Given the description of an element on the screen output the (x, y) to click on. 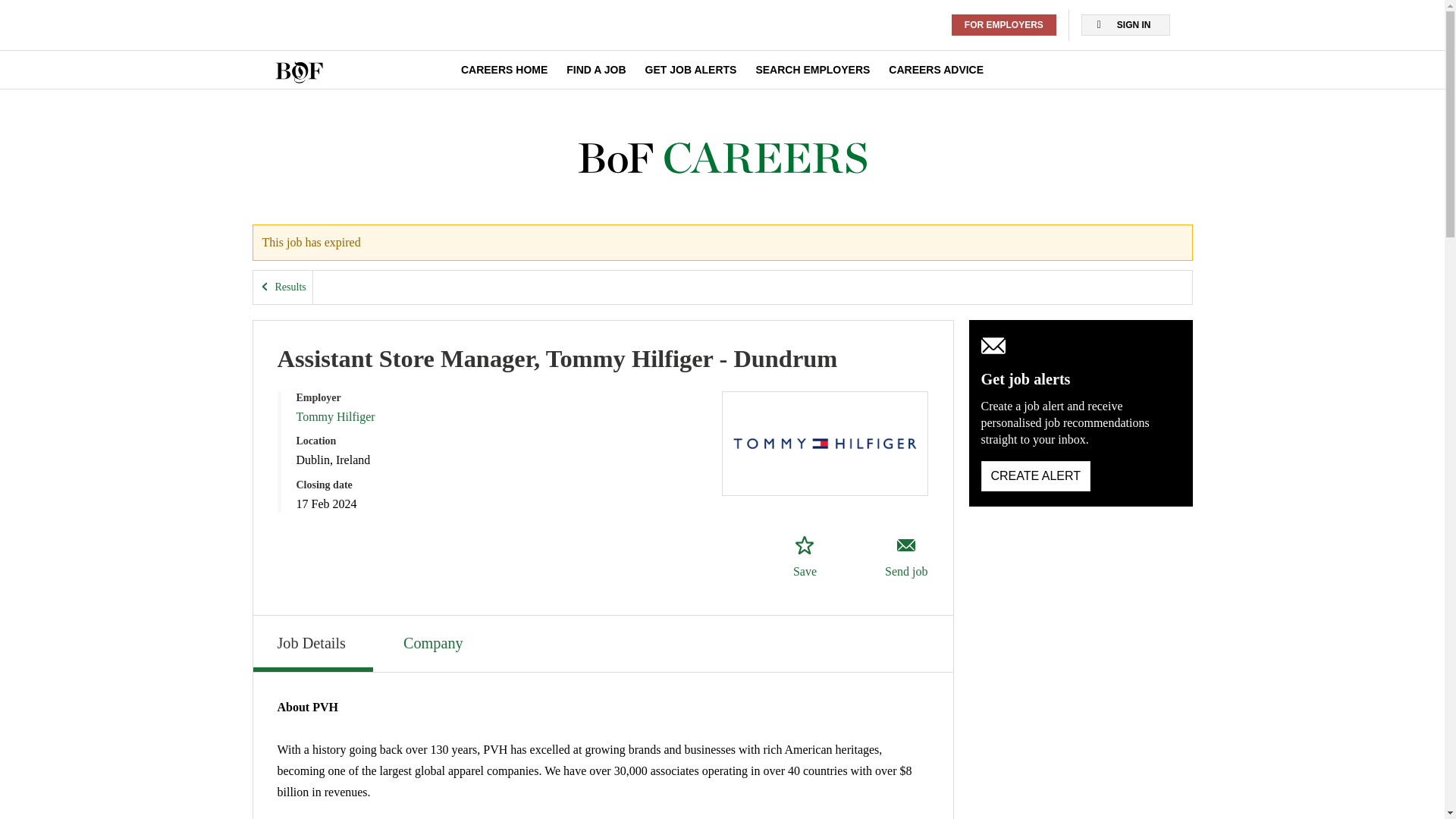
Send job (905, 557)
Job Details (804, 557)
BoF Careers (312, 643)
Results (722, 158)
Company (283, 287)
FIND A JOB (434, 641)
CAREERS HOME (596, 69)
FOR EMPLOYERS (504, 69)
SEARCH EMPLOYERS (1004, 25)
CAREERS ADVICE (812, 69)
SIGN IN (936, 69)
CREATE ALERT (1125, 25)
GET JOB ALERTS (1035, 476)
Tommy Hilfiger (690, 69)
